Given the description of an element on the screen output the (x, y) to click on. 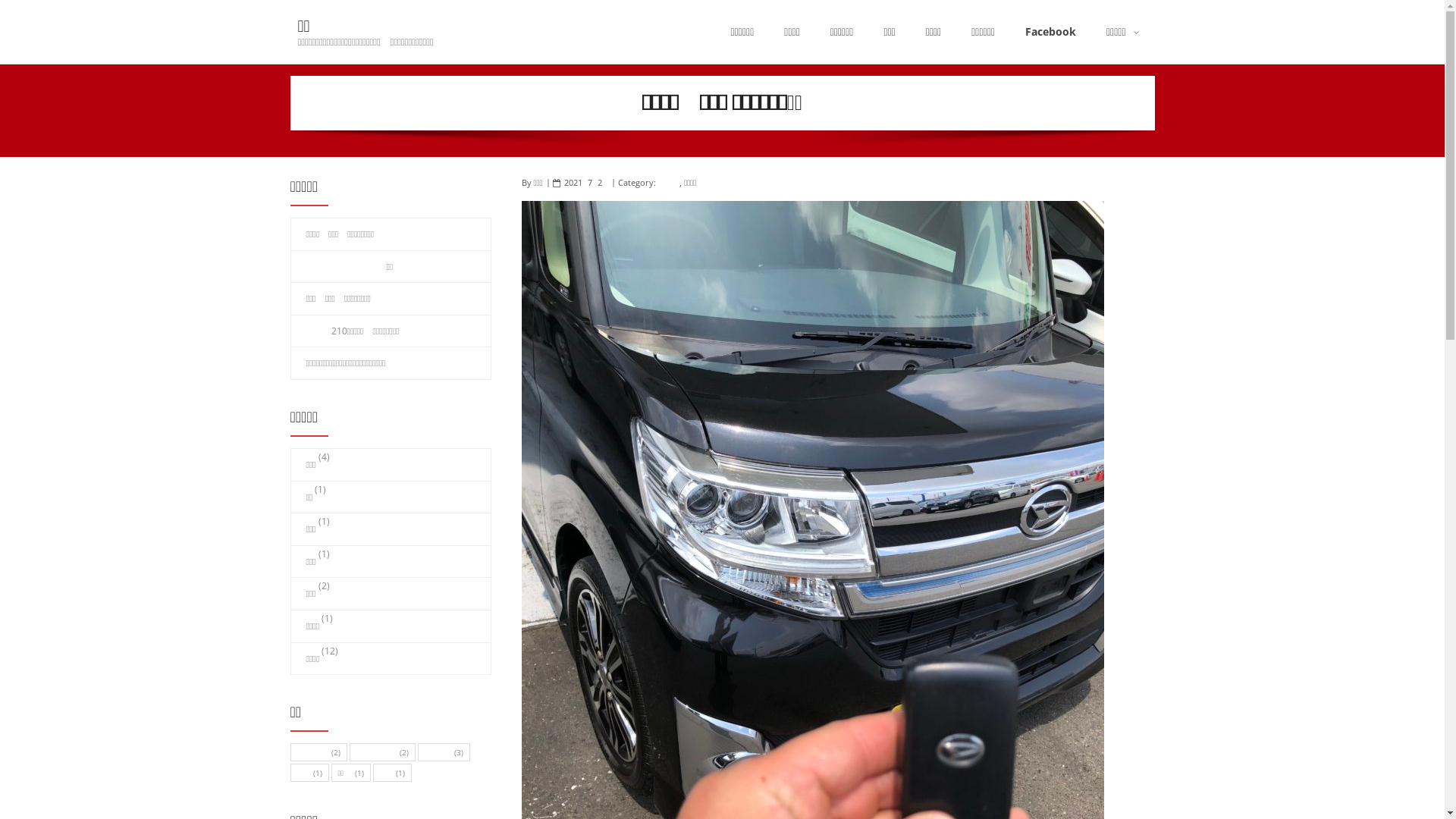
Facebook Element type: text (1050, 31)
